Given the description of an element on the screen output the (x, y) to click on. 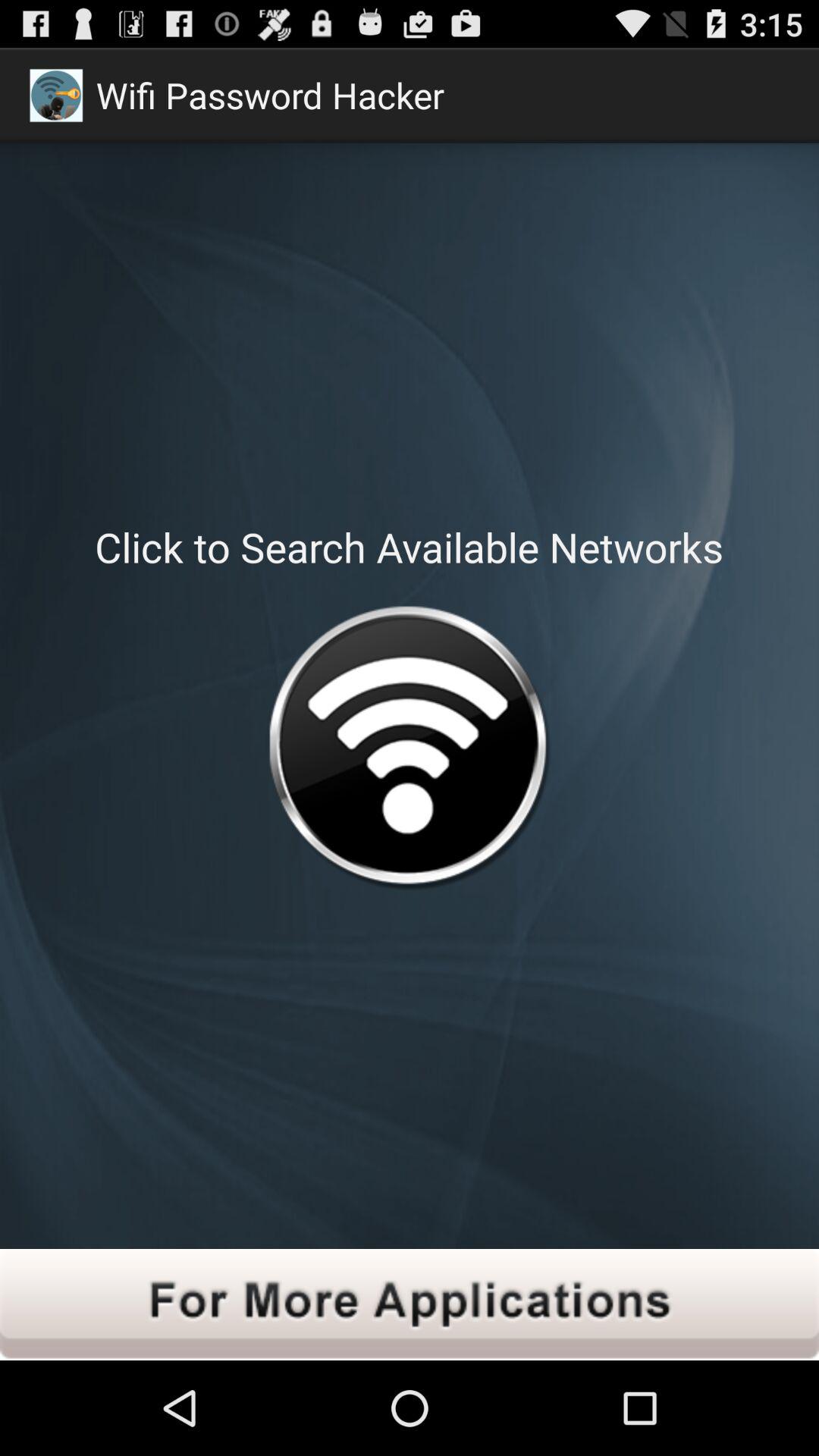
select the app below click to search app (408, 751)
